Given the description of an element on the screen output the (x, y) to click on. 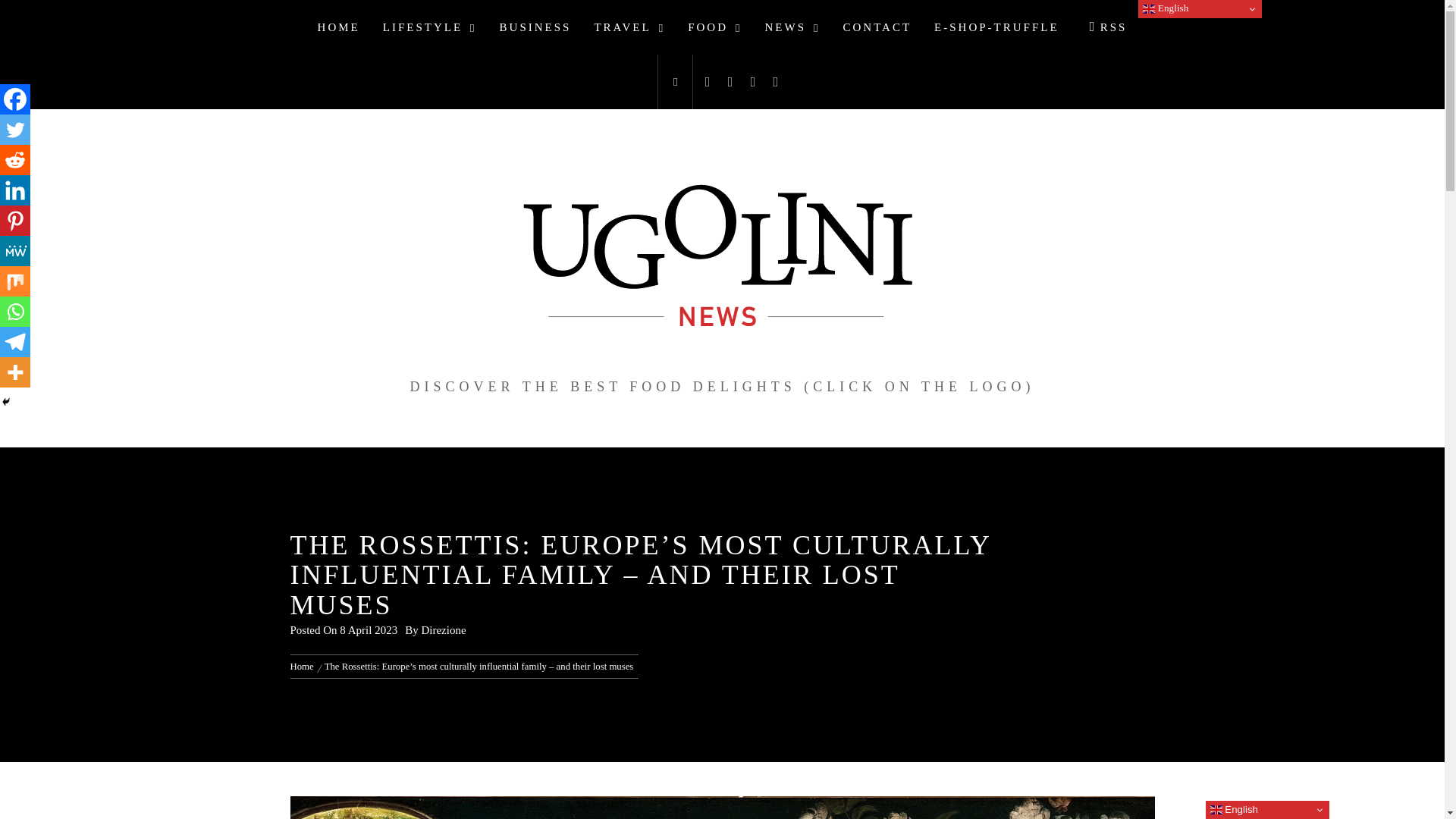
NEWS (791, 27)
E-SHOP-TRUFFLE (996, 27)
Facebook (15, 99)
INFO (1133, 24)
RSS (1104, 27)
HOME (338, 27)
LIFESTYLE (429, 27)
CONTACT (877, 27)
TRAVEL (629, 27)
FOOD (714, 27)
ACCETTA (1076, 24)
BUSINESS (535, 27)
